Given the description of an element on the screen output the (x, y) to click on. 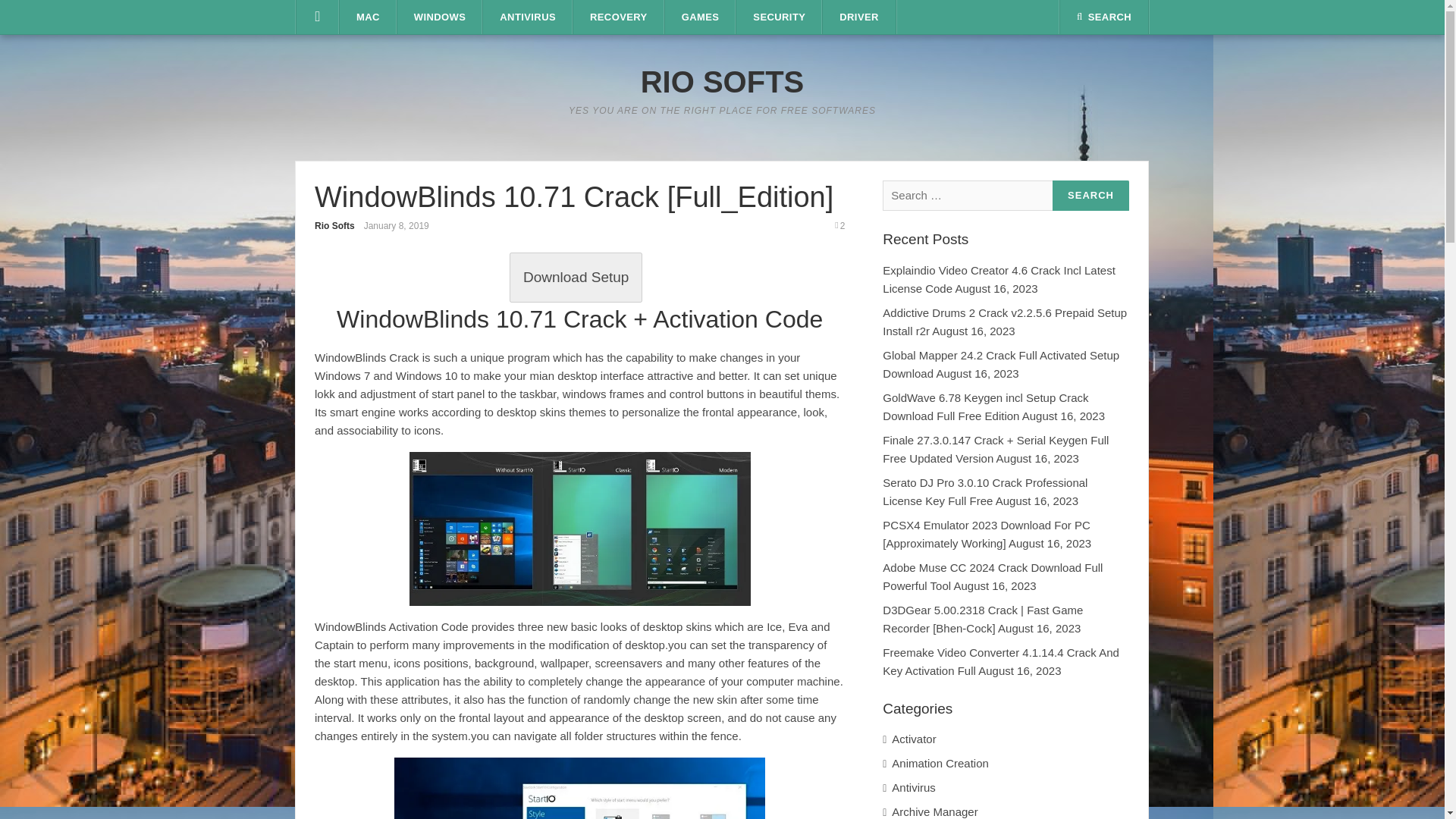
Download Setup (575, 277)
ANTIVIRUS (527, 17)
MAC (367, 17)
GAMES (700, 17)
SECURITY (779, 17)
SEARCH (1104, 16)
Rio Softs (334, 225)
WINDOWS (440, 17)
Search (1090, 195)
DRIVER (858, 17)
